Given the description of an element on the screen output the (x, y) to click on. 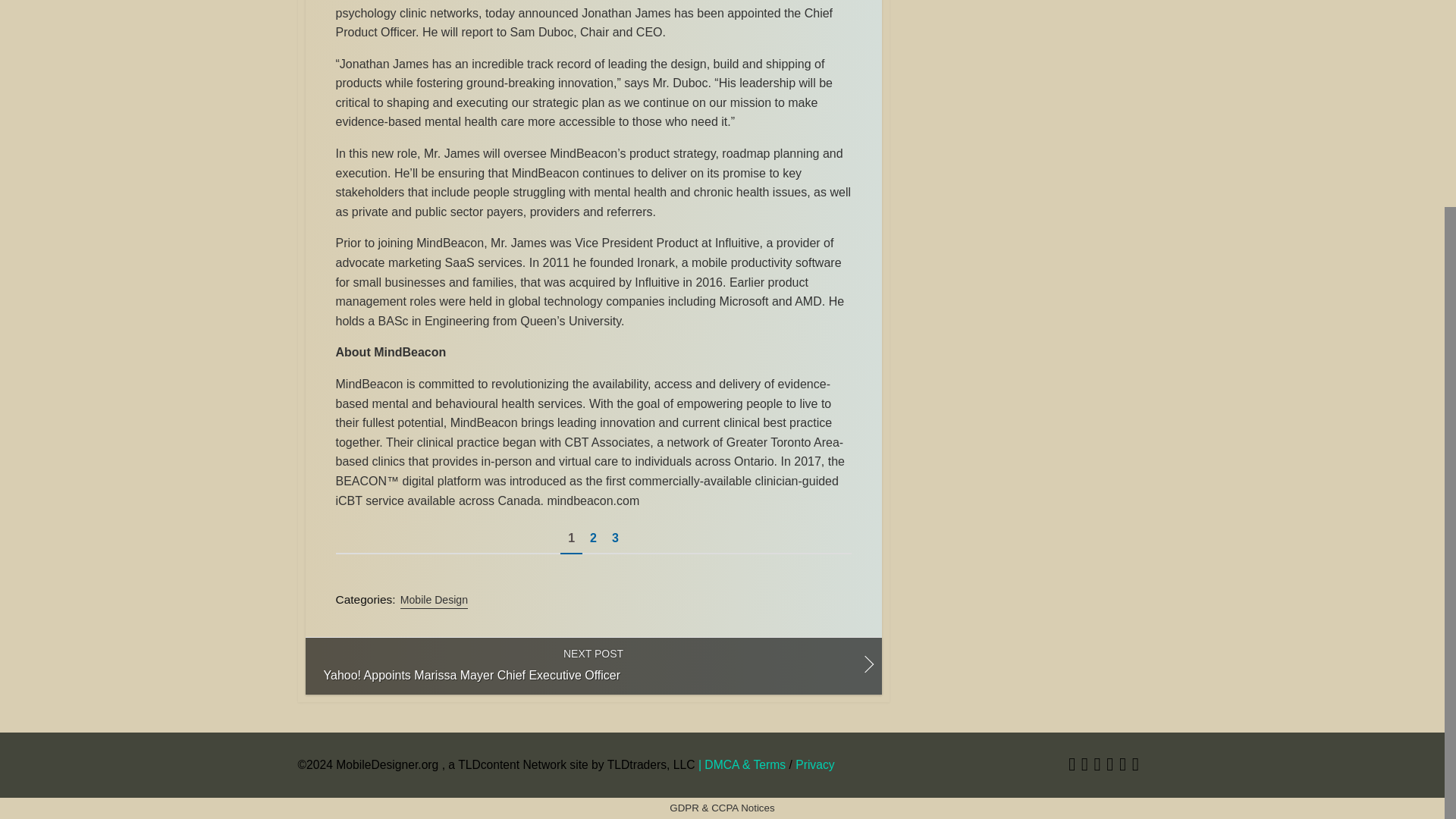
Mobile Design (433, 600)
Privacy (814, 764)
